Given the description of an element on the screen output the (x, y) to click on. 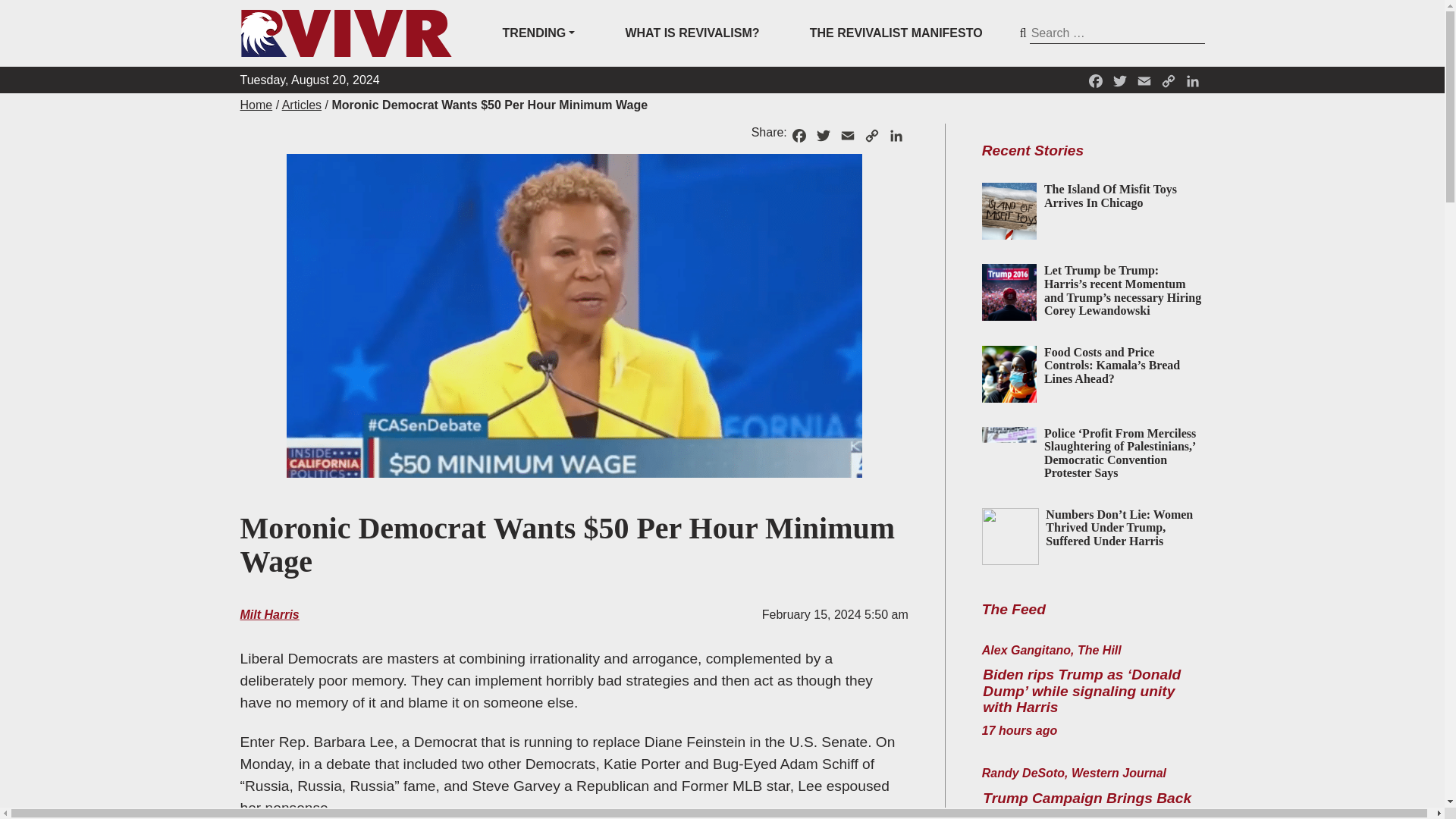
Facebook (1094, 79)
Email (847, 133)
Milt Harris (269, 614)
Twitter (822, 133)
LinkedIn (895, 133)
THE REVIVALIST MANIFESTO (895, 33)
Copy Link (871, 133)
Email (1143, 79)
WHAT IS REVIVALISM? (691, 33)
Copy Link (1167, 79)
